Given the description of an element on the screen output the (x, y) to click on. 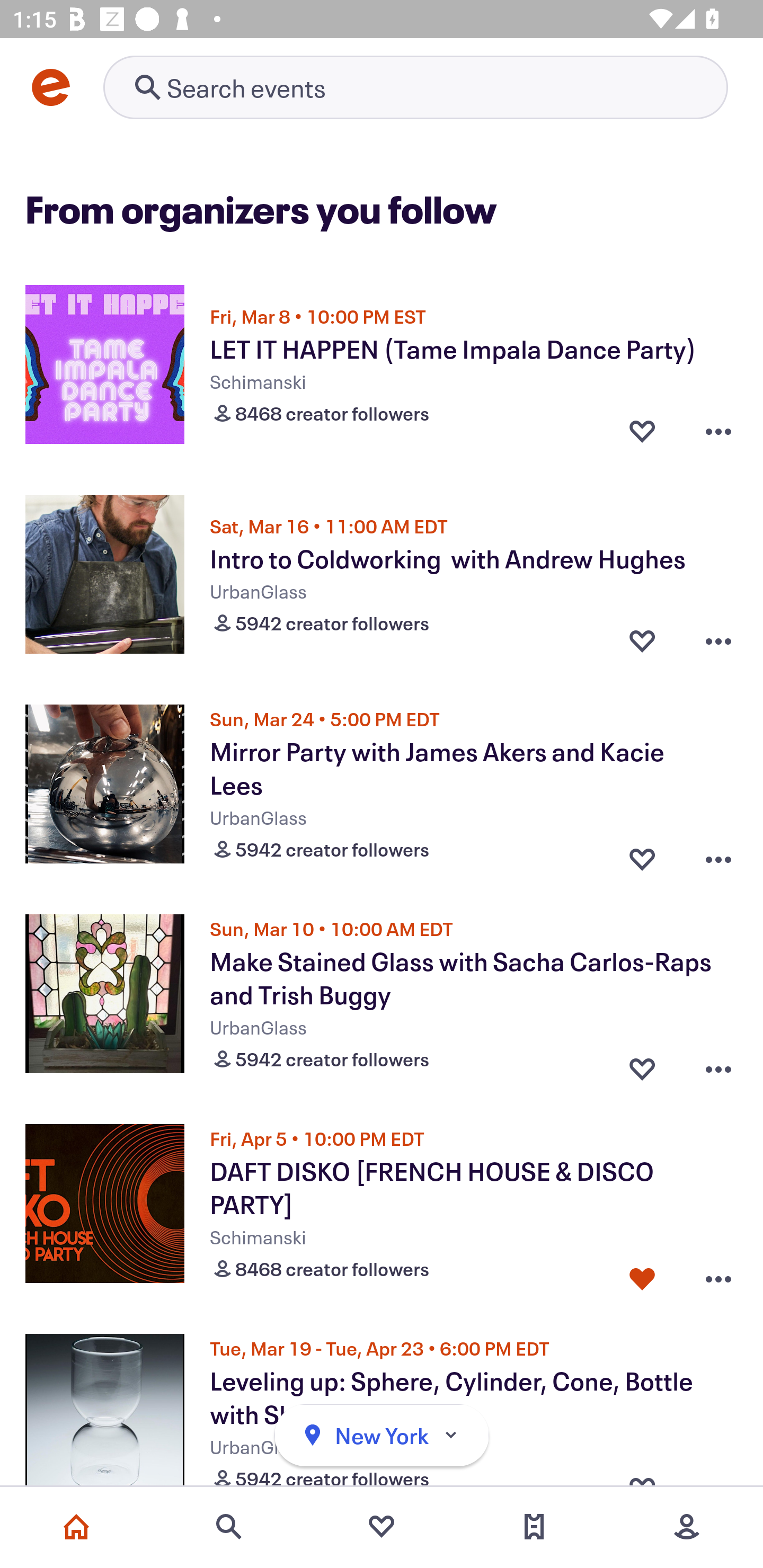
Retry's image Search events (415, 86)
Favorite button (642, 430)
Overflow menu button (718, 430)
Favorite button (642, 640)
Overflow menu button (718, 640)
Favorite button (642, 855)
Overflow menu button (718, 855)
Favorite button (642, 1065)
Overflow menu button (718, 1065)
Favorite button (642, 1274)
Overflow menu button (718, 1274)
New York (381, 1435)
Home (76, 1526)
Search events (228, 1526)
Favorites (381, 1526)
Tickets (533, 1526)
More (686, 1526)
